Given the description of an element on the screen output the (x, y) to click on. 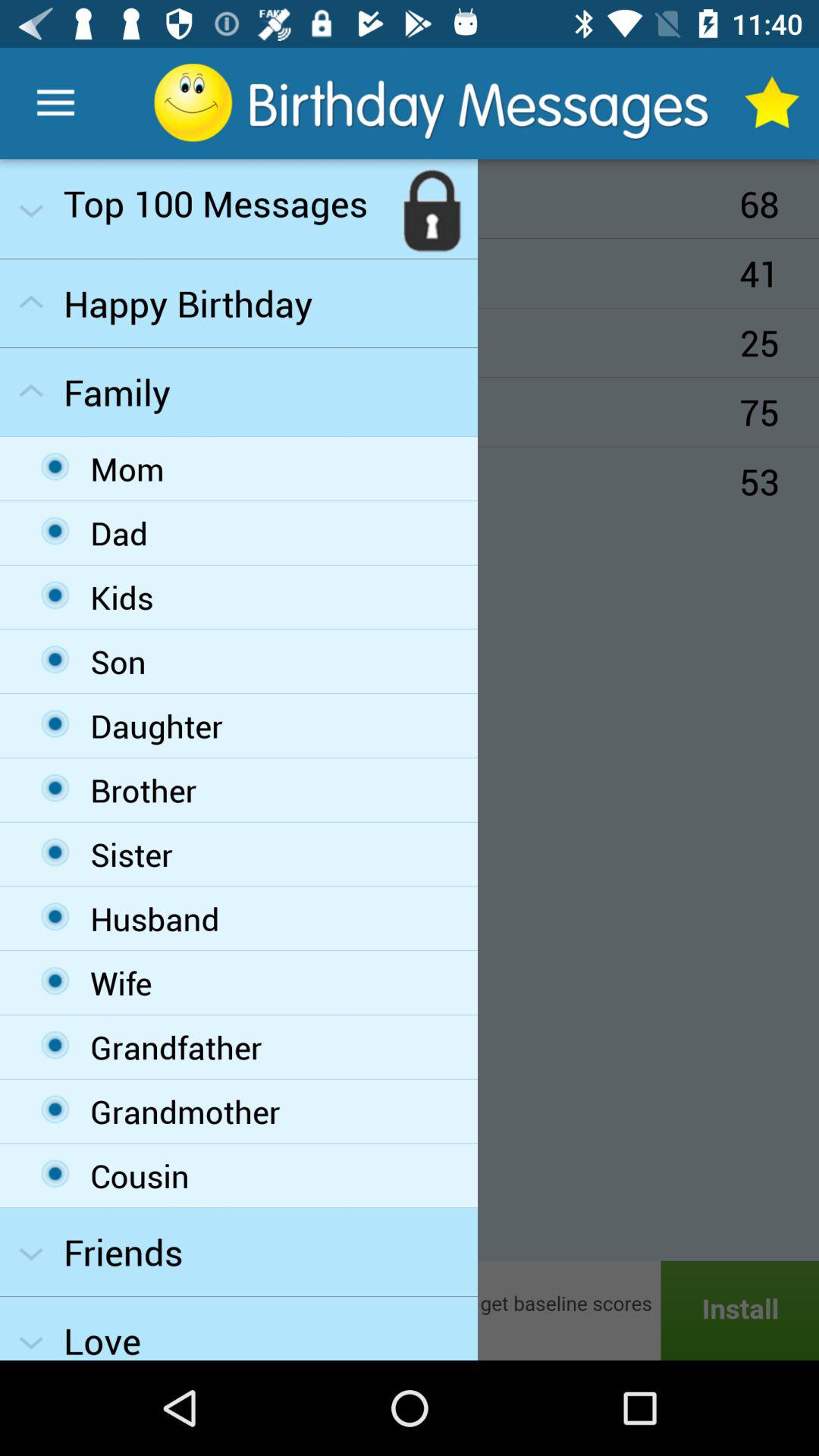
install app (409, 1310)
